Given the description of an element on the screen output the (x, y) to click on. 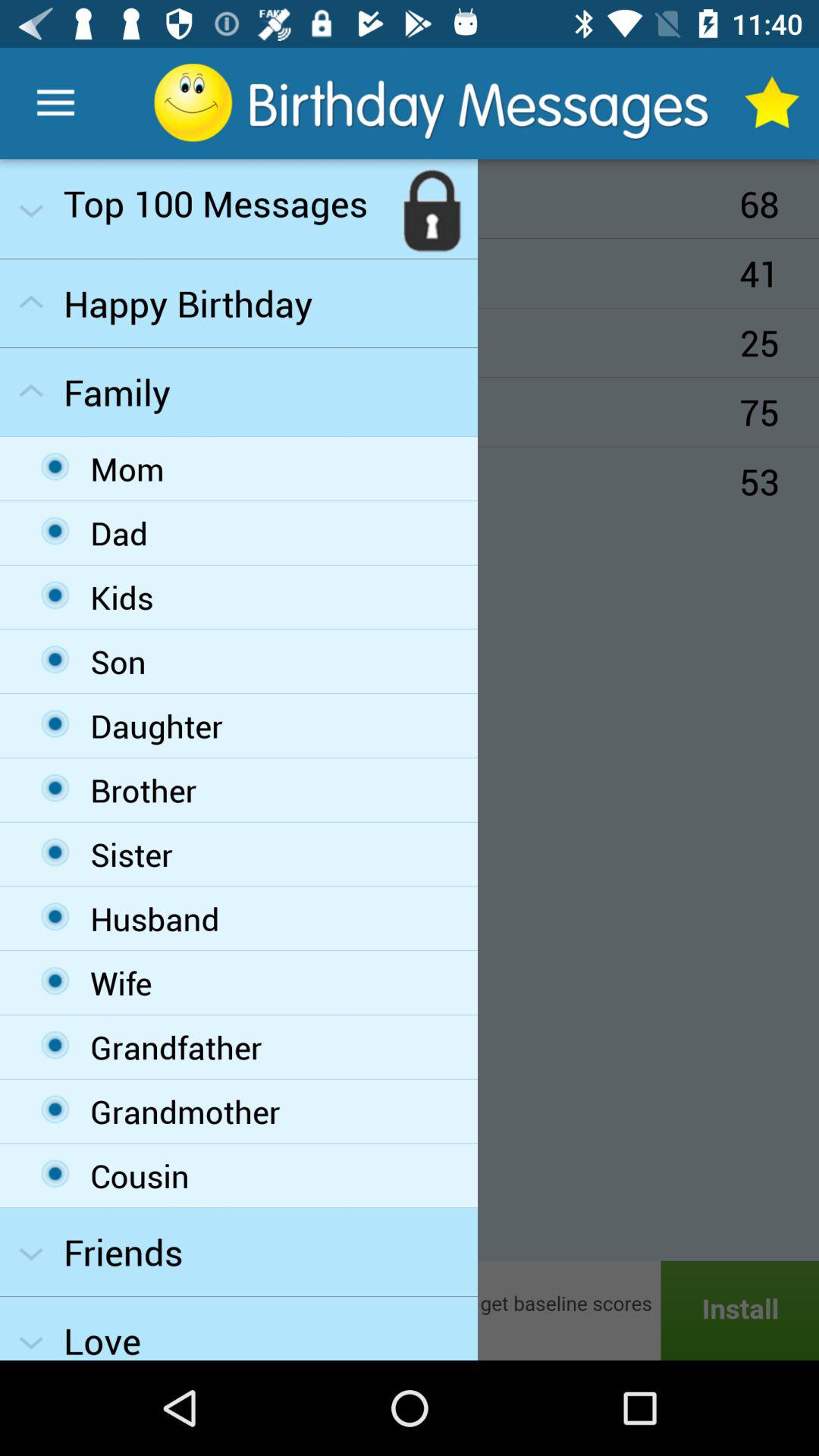
install app (409, 1310)
